Given the description of an element on the screen output the (x, y) to click on. 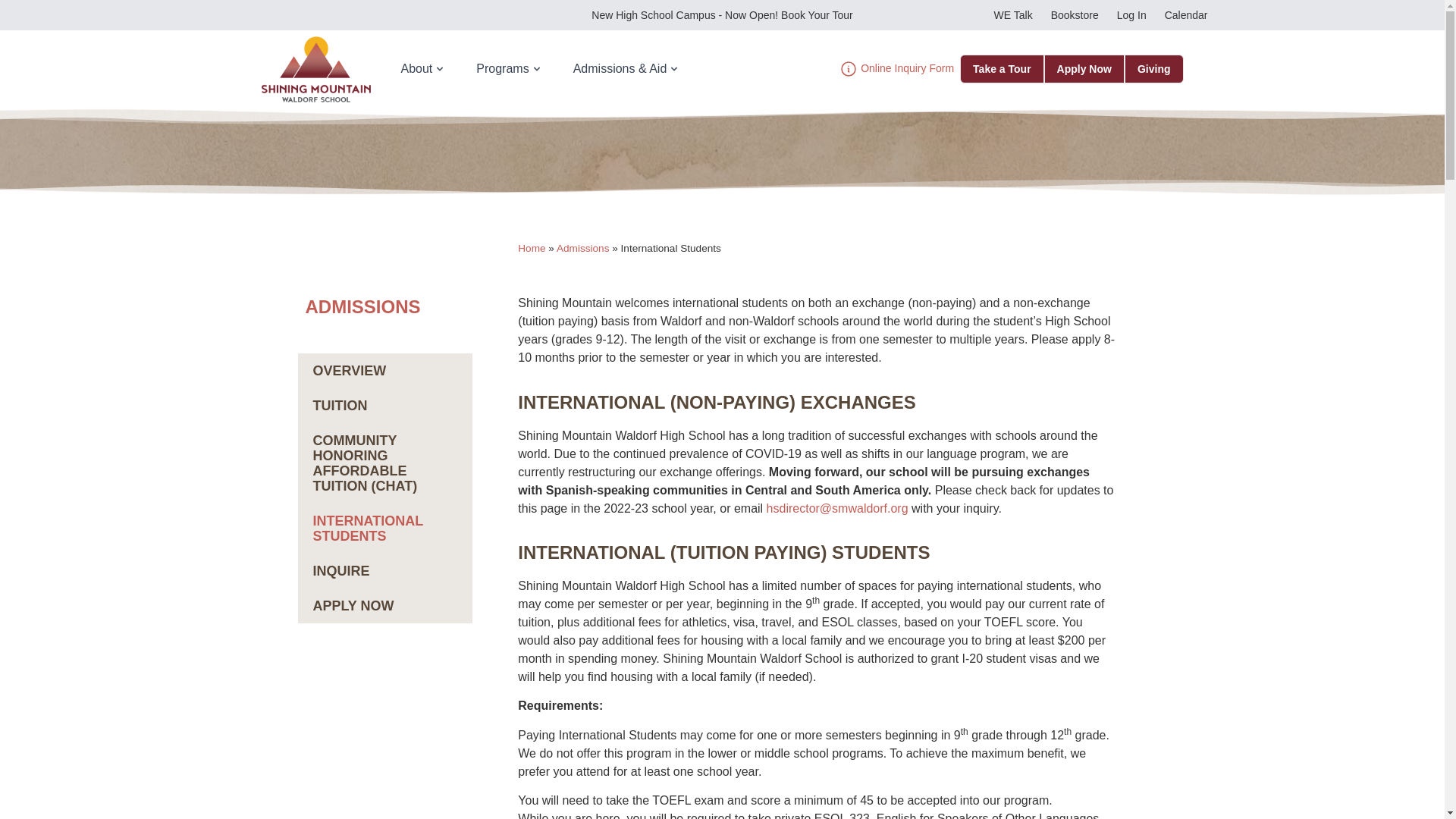
New High School Campus - Now Open! Book Your Tour (721, 15)
Calendar (1186, 14)
Log In (1131, 14)
Bookstore (1075, 14)
Shining Mountain Waldorf School (314, 69)
WE Talk (1013, 14)
